Given the description of an element on the screen output the (x, y) to click on. 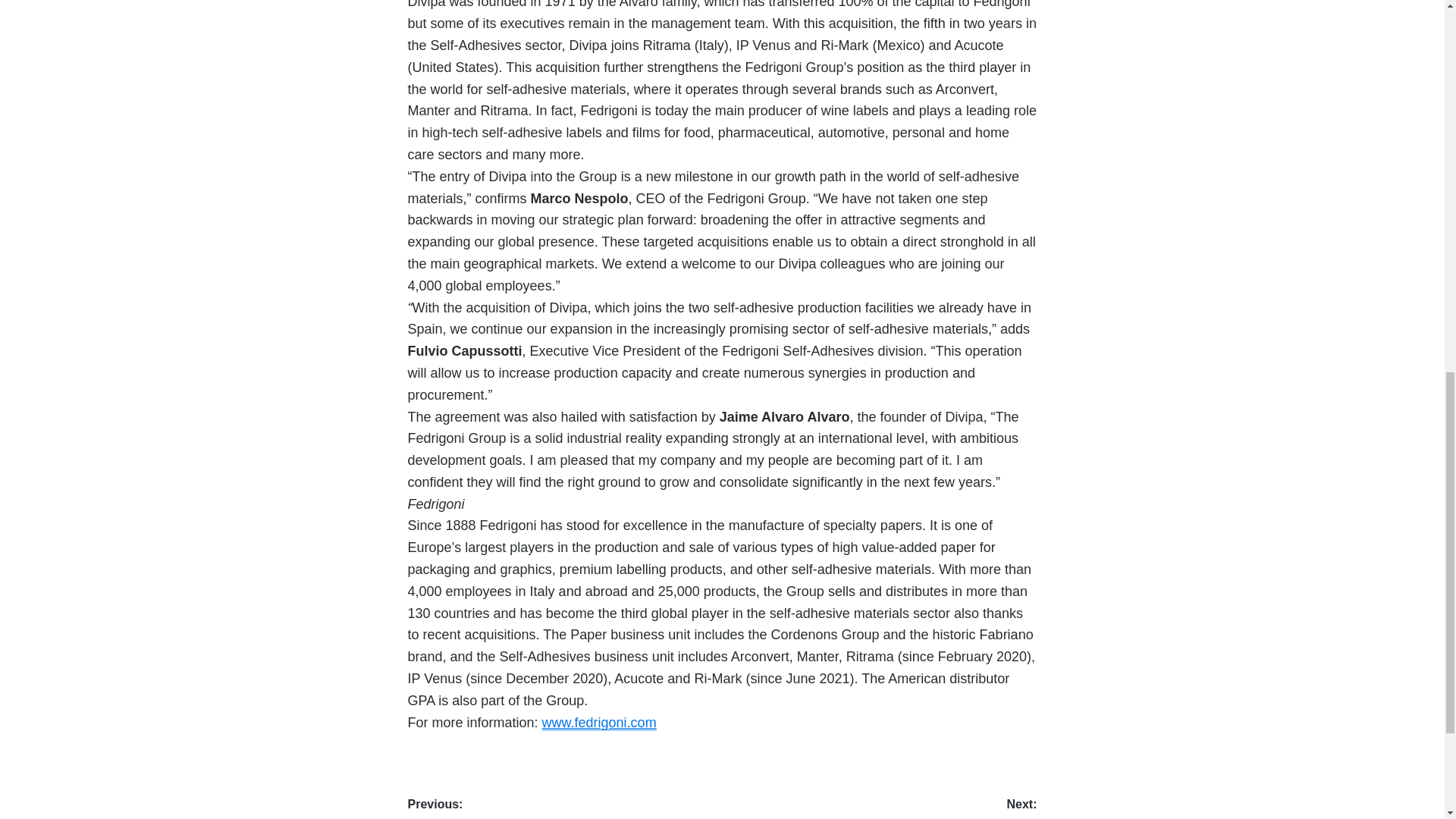
www.fedrigoni.com (598, 722)
